Given the description of an element on the screen output the (x, y) to click on. 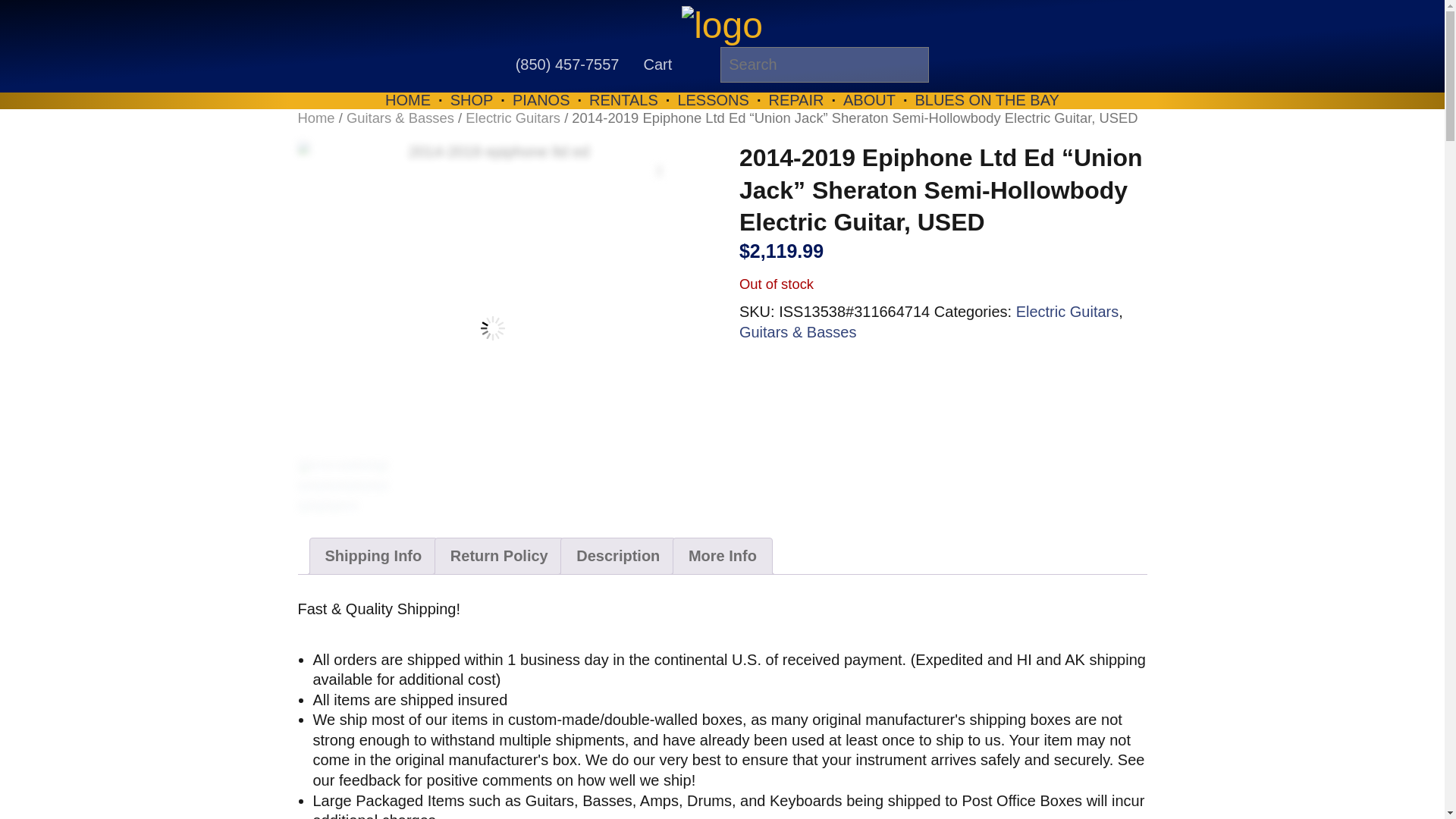
Cart (657, 64)
RENTALS (623, 99)
LESSONS (712, 99)
SHOP (471, 99)
PIANOS (541, 99)
ABOUT (869, 99)
HOME (407, 99)
REPAIR (796, 99)
